Given the description of an element on the screen output the (x, y) to click on. 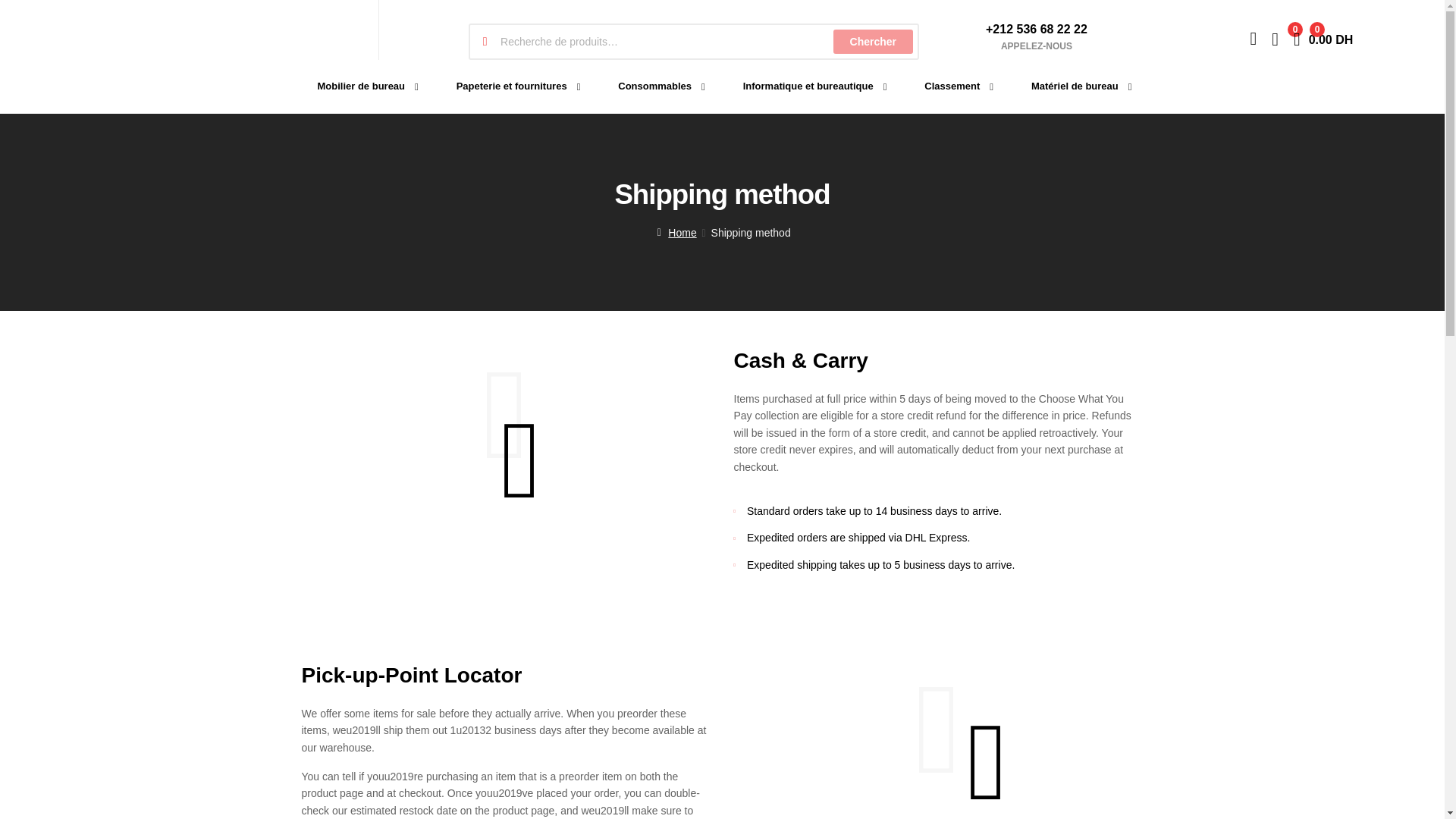
Papeterie et fournitures (1323, 38)
Mobilier de bureau (510, 86)
Chercher (360, 86)
View your shopping cart (872, 41)
